Given the description of an element on the screen output the (x, y) to click on. 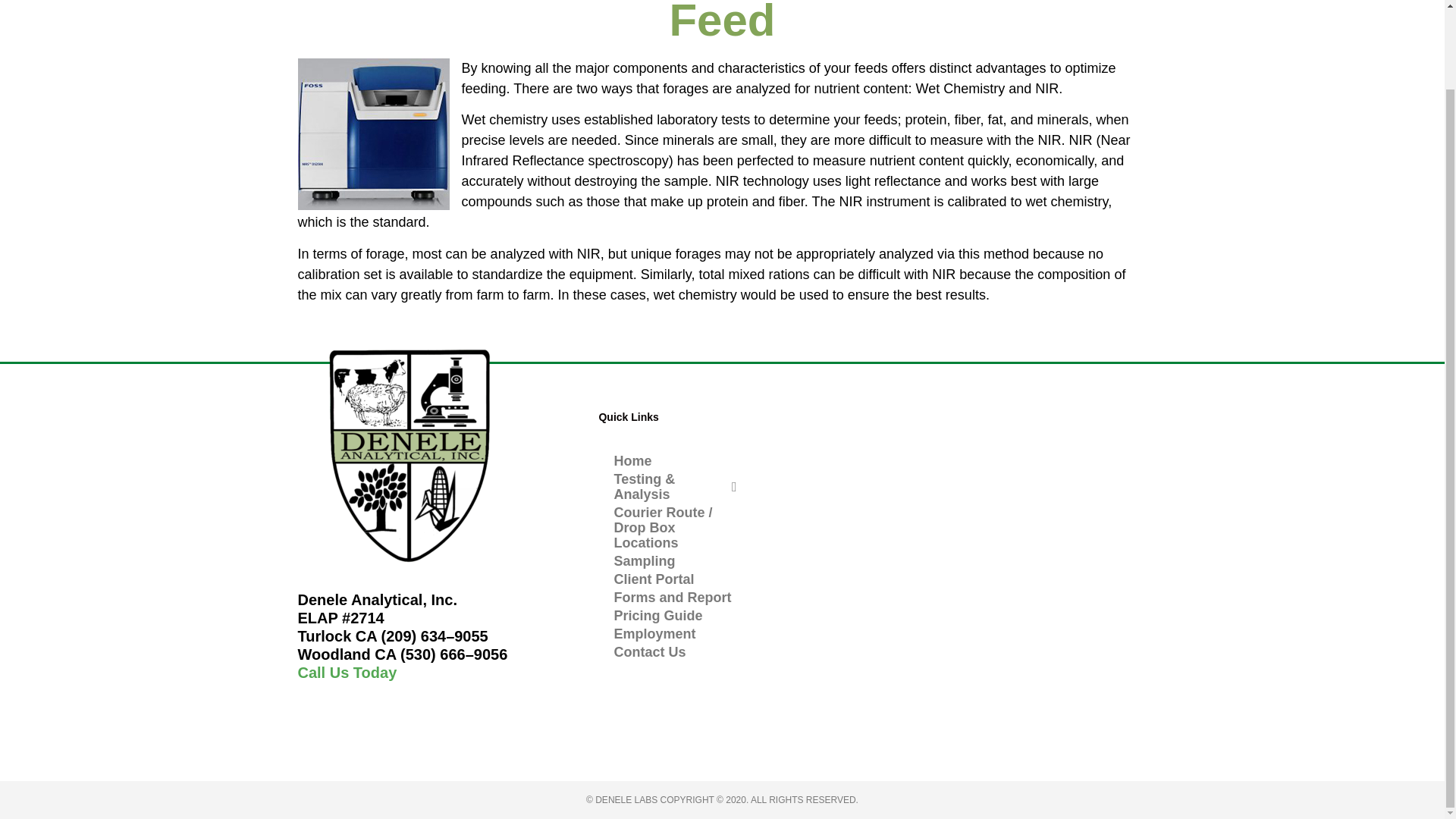
Home (674, 461)
